Given the description of an element on the screen output the (x, y) to click on. 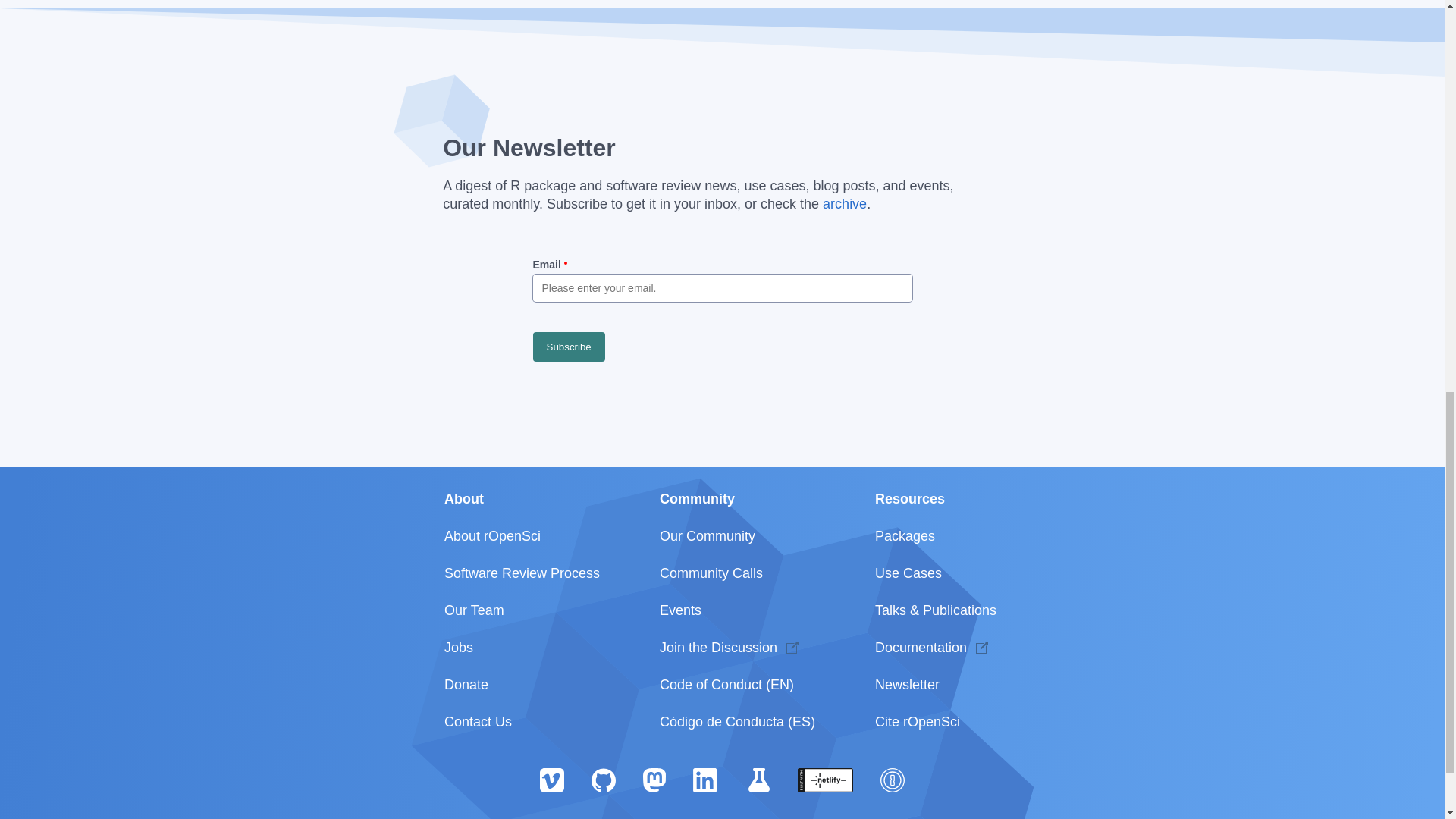
Happy 1Password users (892, 779)
Website deployed via Netlify (825, 779)
